Given the description of an element on the screen output the (x, y) to click on. 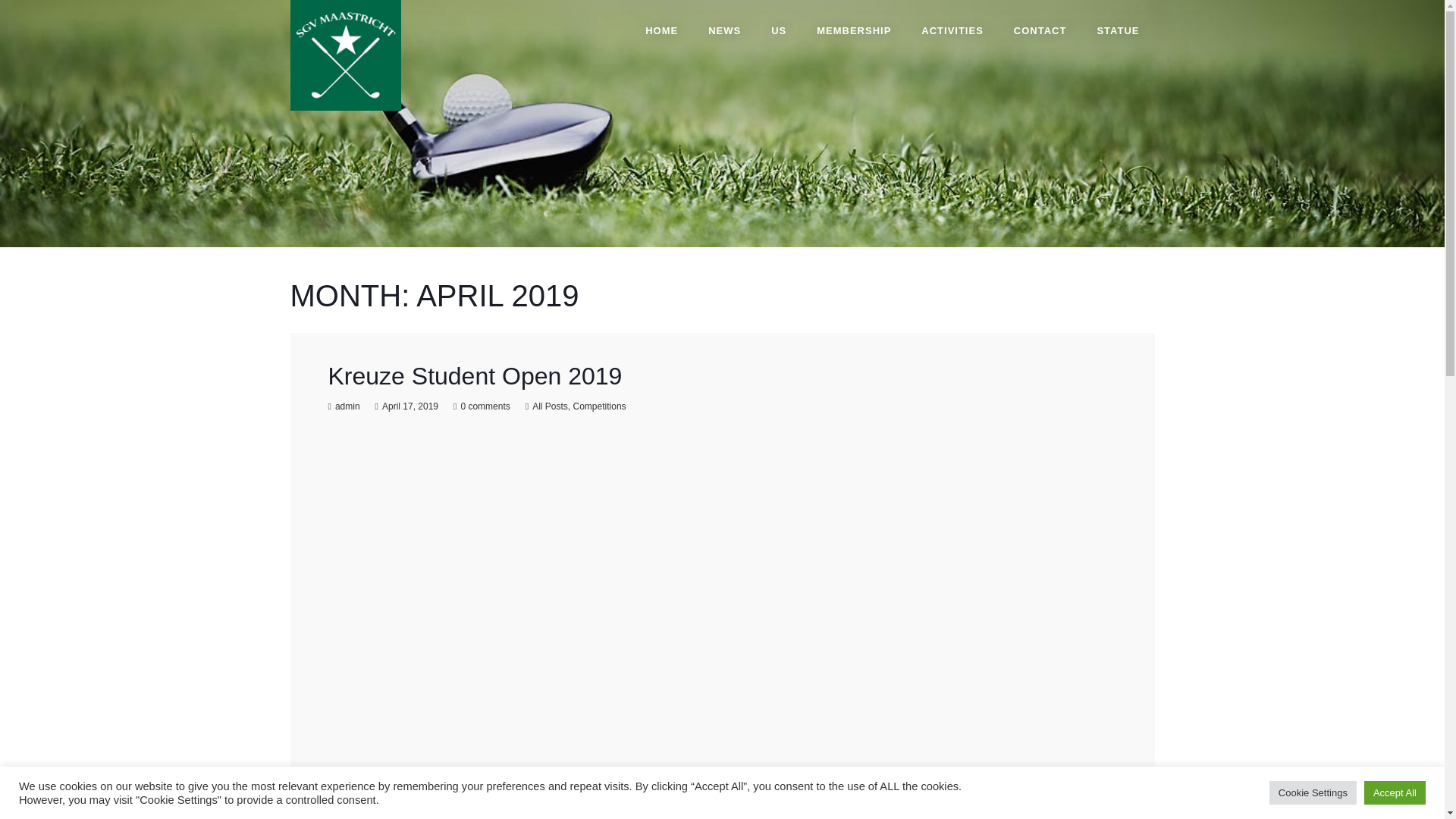
HOME (661, 30)
SGV Maastricht (344, 55)
Kreuze Student Open 2019 (474, 375)
Posts by admin (346, 406)
0 comments (484, 406)
Competitions (599, 406)
admin (346, 406)
April 17, 2019 (409, 406)
CONTACT (1039, 30)
NEWS (724, 30)
